Given the description of an element on the screen output the (x, y) to click on. 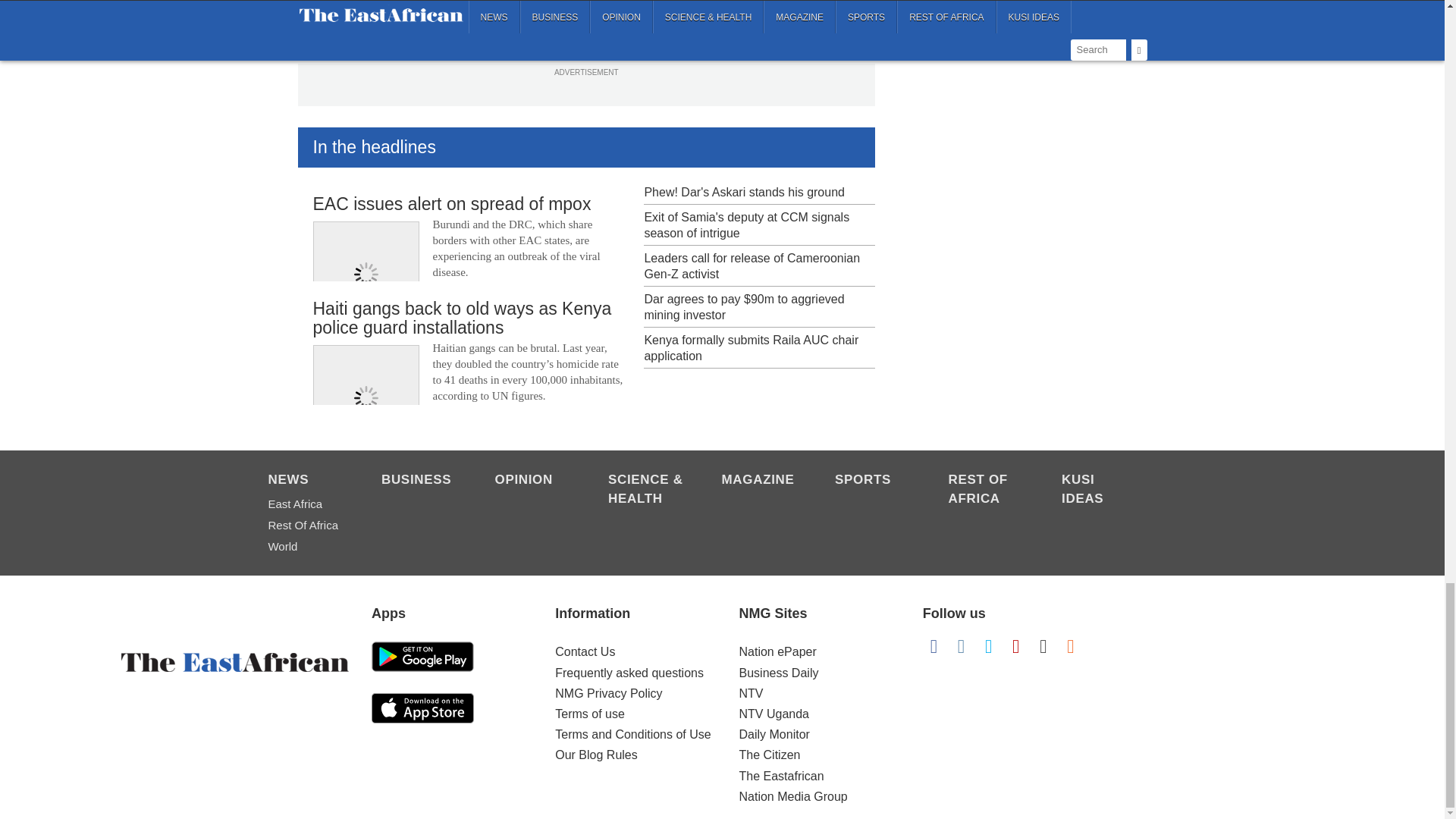
Magazine (760, 480)
KUSI IDEAS (1099, 490)
Opinion (533, 480)
World (306, 546)
Rest of Africa (306, 525)
NMG Privacy Policy (608, 693)
Frequently asked questions (628, 672)
Sports (873, 480)
Rest of Africa (987, 490)
East Africa (306, 504)
Business (419, 480)
Contact Us (584, 651)
News (306, 480)
